Given the description of an element on the screen output the (x, y) to click on. 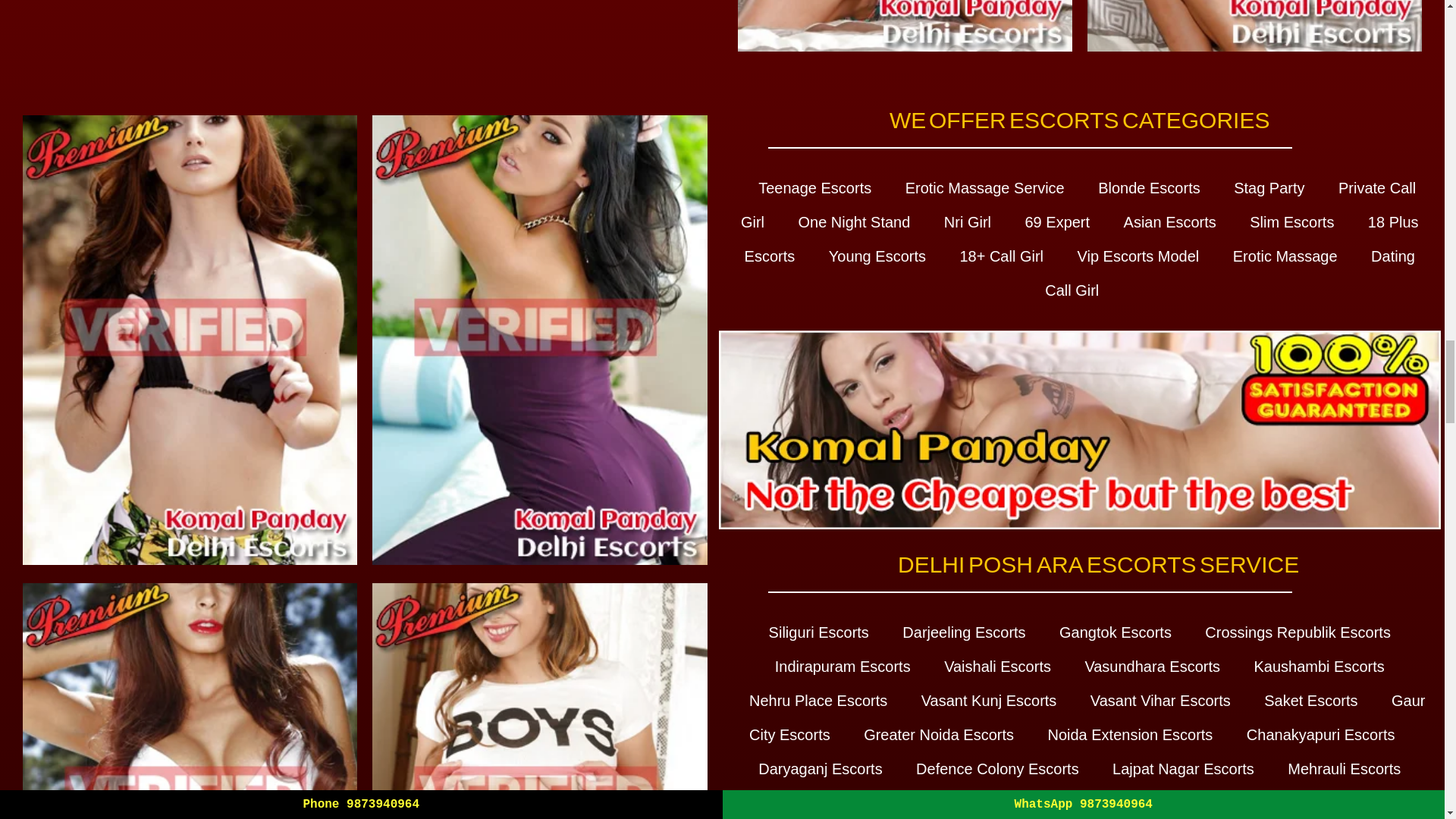
Asian Escorts (1169, 221)
18 Plus Escorts (1081, 238)
Slim Escorts (1291, 221)
Gangtok Escorts (1115, 632)
Teenage Escorts (814, 187)
Young Escorts (877, 256)
Siliguri Escorts (818, 632)
Stag Party (1268, 187)
Erotic Massage Service (984, 187)
One Night Stand (853, 221)
